Given the description of an element on the screen output the (x, y) to click on. 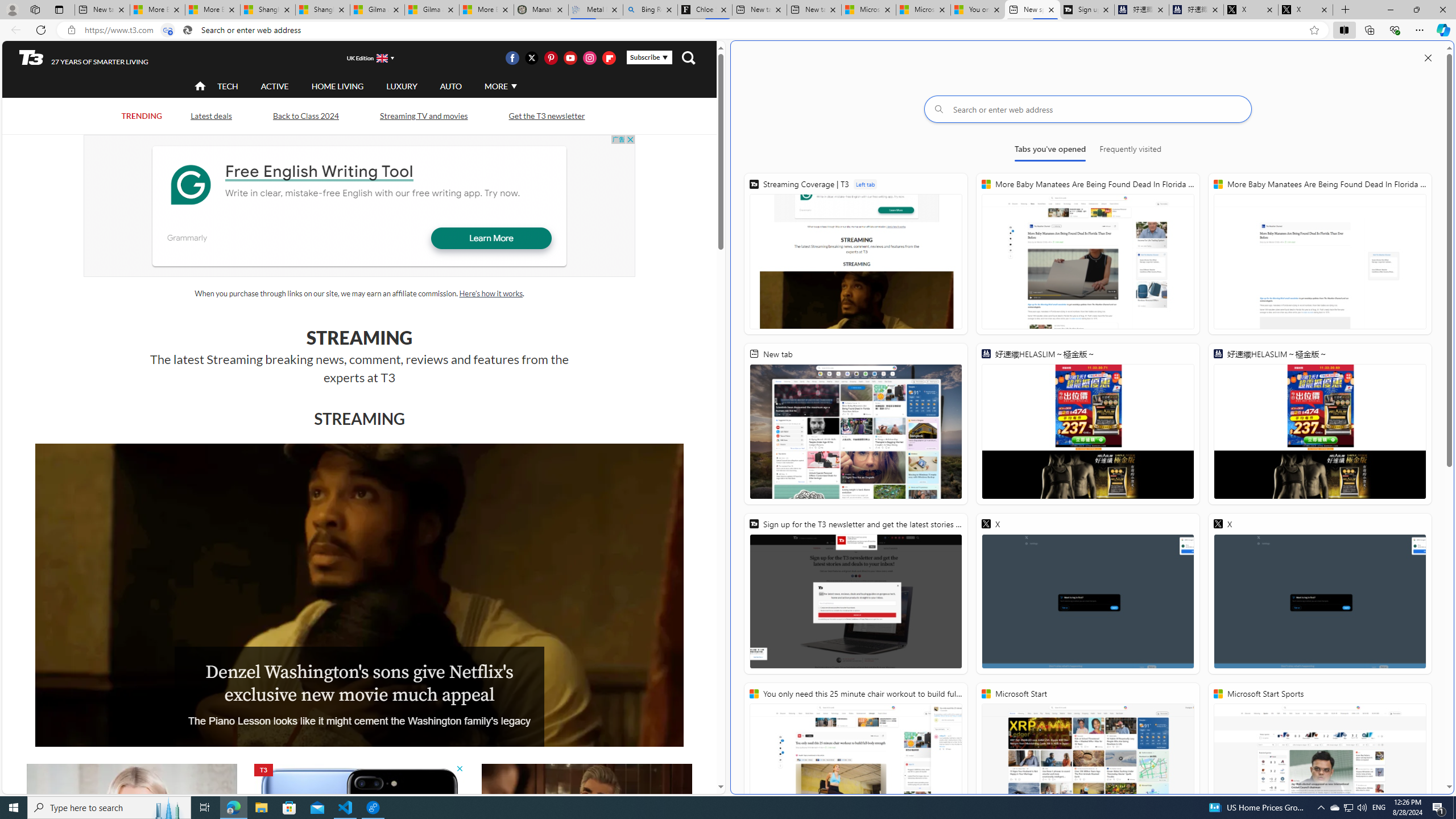
Tabs you've opened (1049, 151)
Chloe Sorvino (704, 9)
Back to Class 2024 (305, 115)
AUTO (450, 85)
Visit us on Instagram (589, 57)
flag of UK (382, 57)
